Given the description of an element on the screen output the (x, y) to click on. 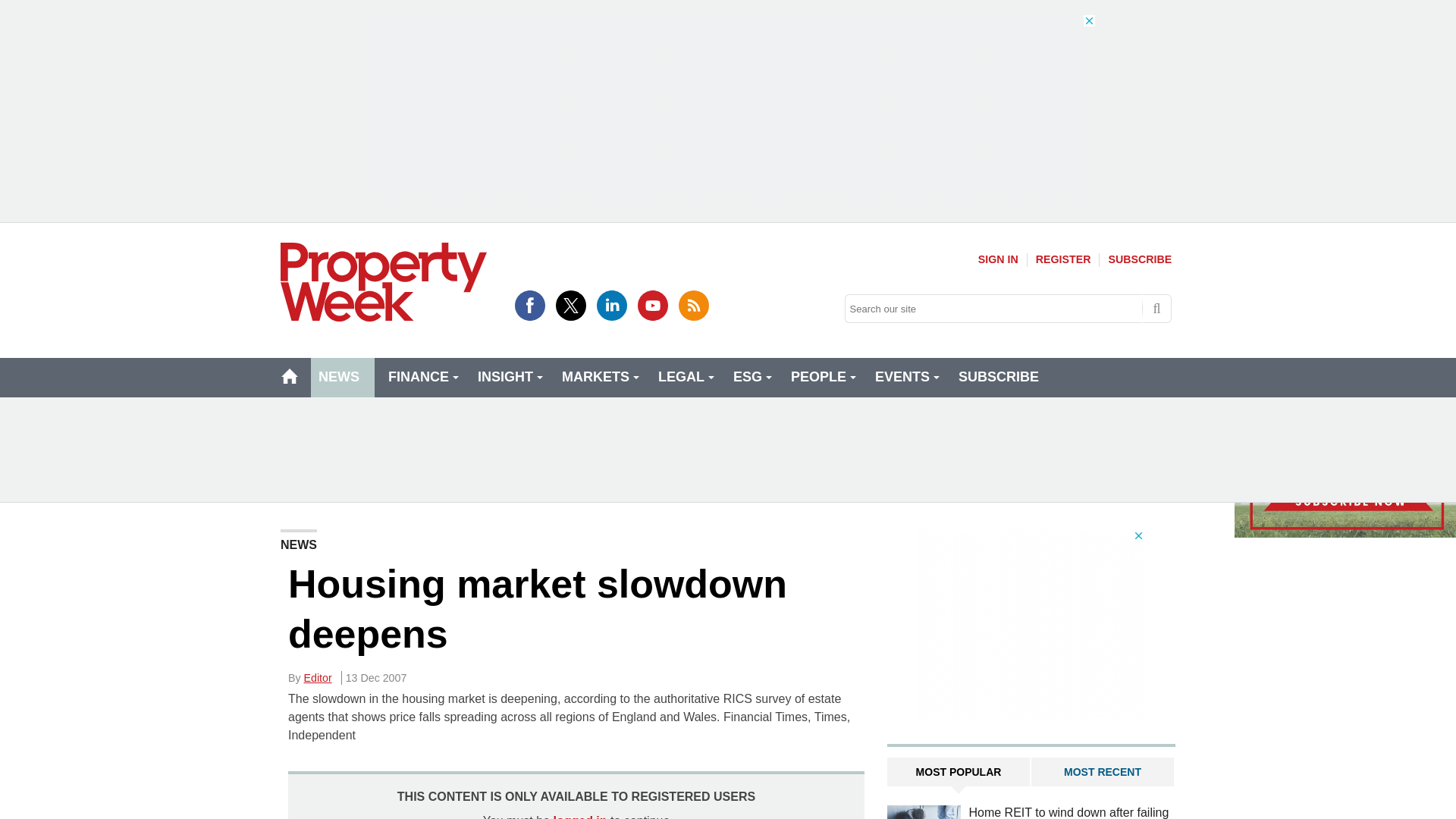
Property Week (383, 281)
Home REIT to wind down after failing to secure refinancing (923, 812)
3rd party ad content (1030, 624)
3rd party ad content (727, 449)
Posts by Editor (317, 677)
